Given the description of an element on the screen output the (x, y) to click on. 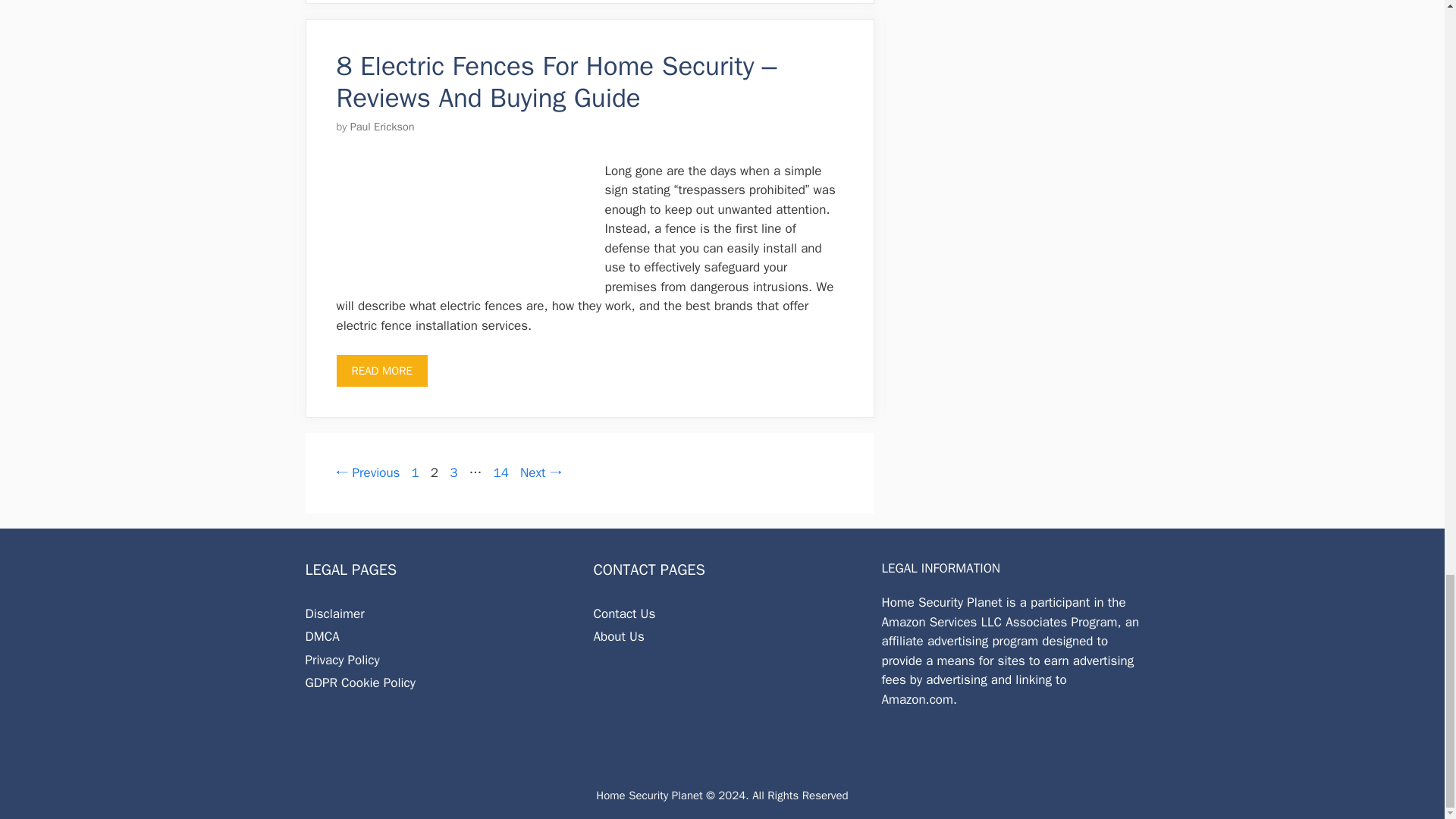
View all posts by Paul Erickson (382, 126)
